Given the description of an element on the screen output the (x, y) to click on. 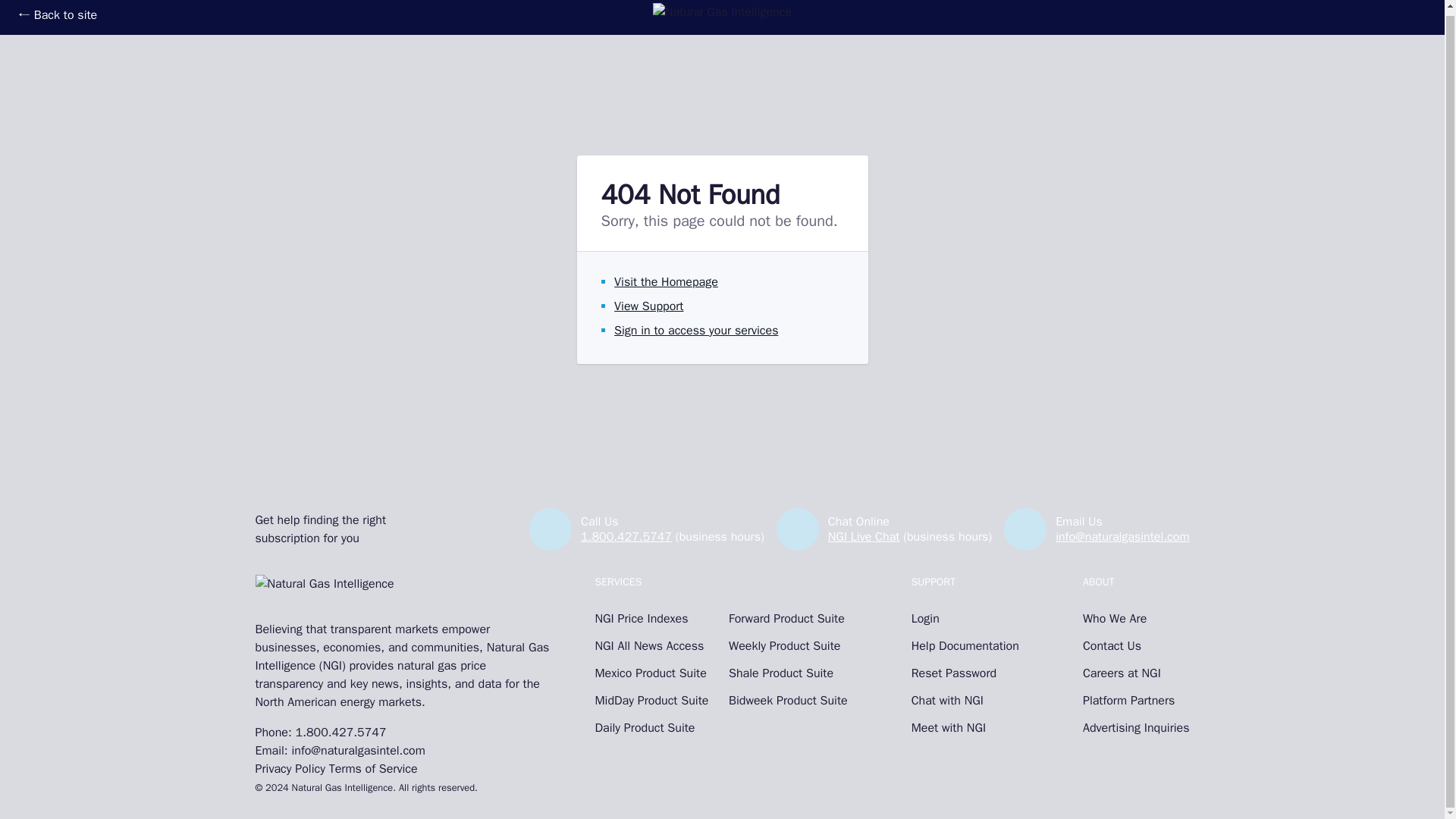
Visit the Homepage (665, 281)
View Support (648, 305)
MidDay Product Suite (653, 700)
Reset Password (965, 673)
Privacy Policy (289, 768)
Who We Are (1136, 618)
Careers at NGI (1136, 673)
Terms of Service (373, 768)
Daily Product Suite (653, 728)
Advertising Inquiries (1136, 728)
Login (965, 618)
Help Documentation (965, 646)
Contact Us (1136, 646)
NGI Price Indexes (653, 618)
Bidweek Product Suite (788, 700)
